Given the description of an element on the screen output the (x, y) to click on. 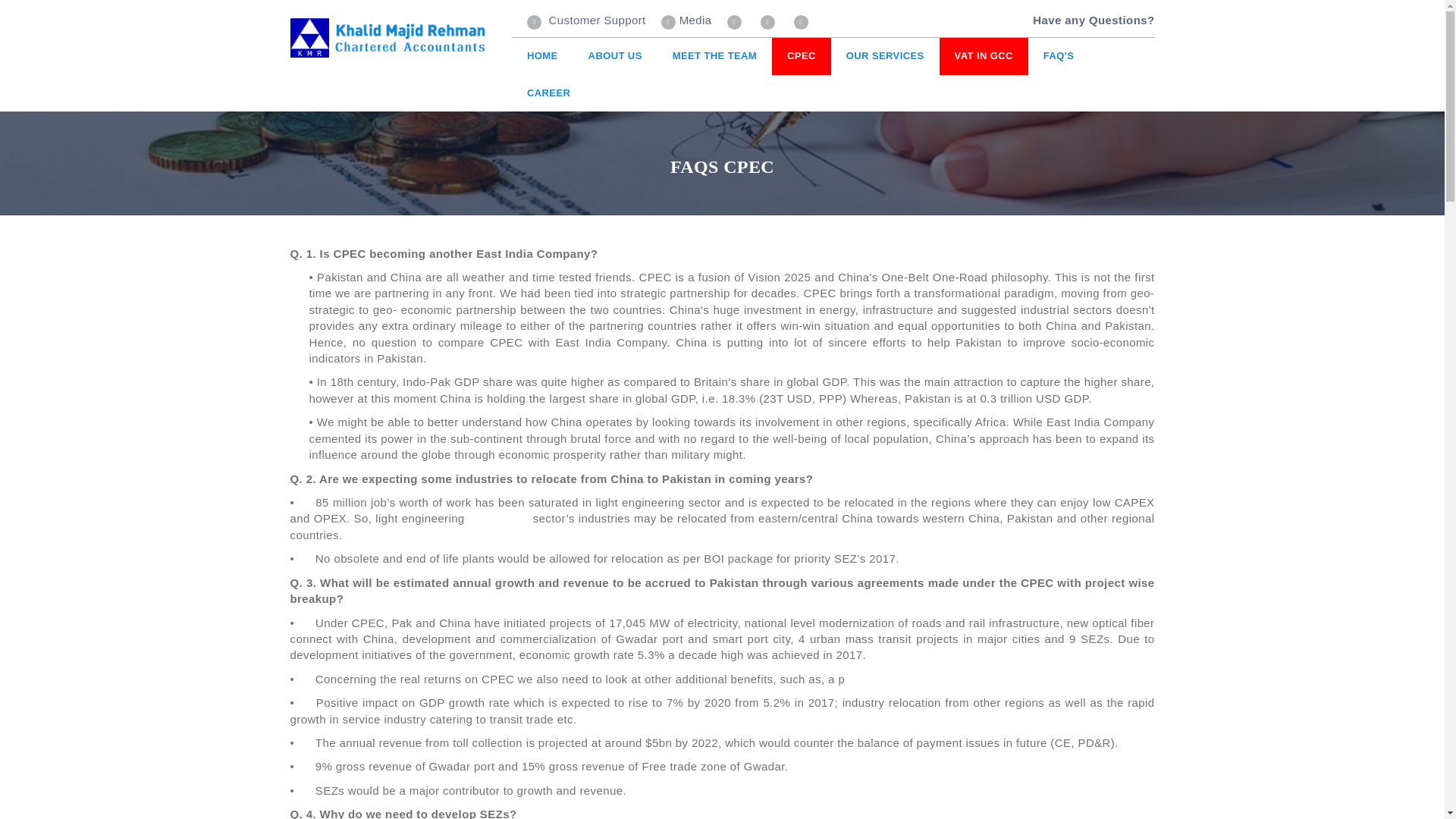
CPEC (801, 56)
Customer Support (586, 19)
HOME (542, 56)
FAQ'S (1058, 56)
VAT IN GCC (983, 56)
CAREER (548, 93)
Media (686, 19)
OUR SERVICES (885, 56)
MEET THE TEAM (714, 56)
Have any Questions? (1093, 19)
